Given the description of an element on the screen output the (x, y) to click on. 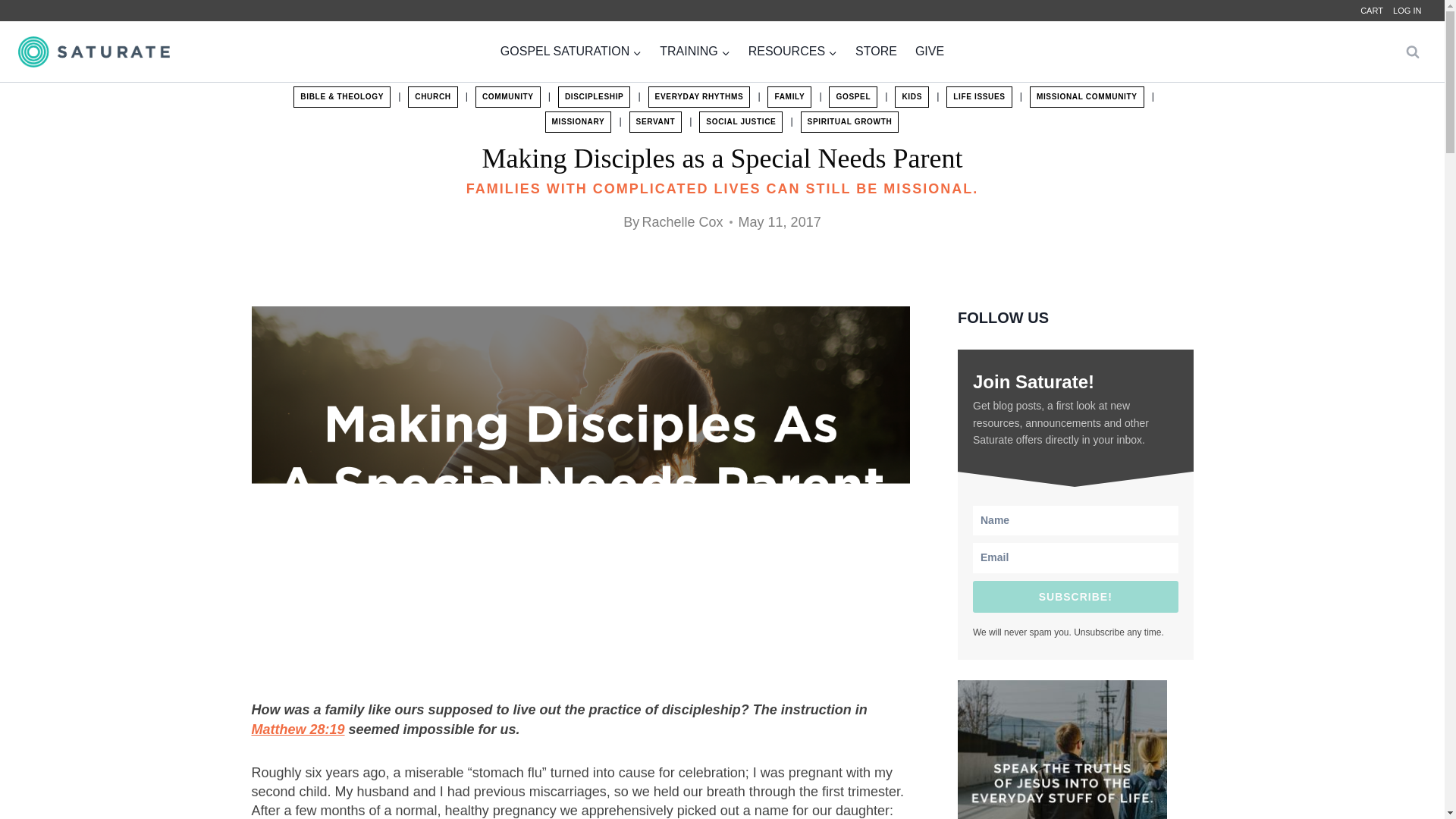
GOSPEL SATURATION (571, 51)
SERVANT (655, 121)
GOSPEL (852, 96)
LIFE ISSUES (978, 96)
FAMILY (788, 96)
CHURCH (432, 96)
SOCIAL JUSTICE (740, 121)
KIDS (911, 96)
STORE (875, 51)
RESOURCES (792, 51)
